Given the description of an element on the screen output the (x, y) to click on. 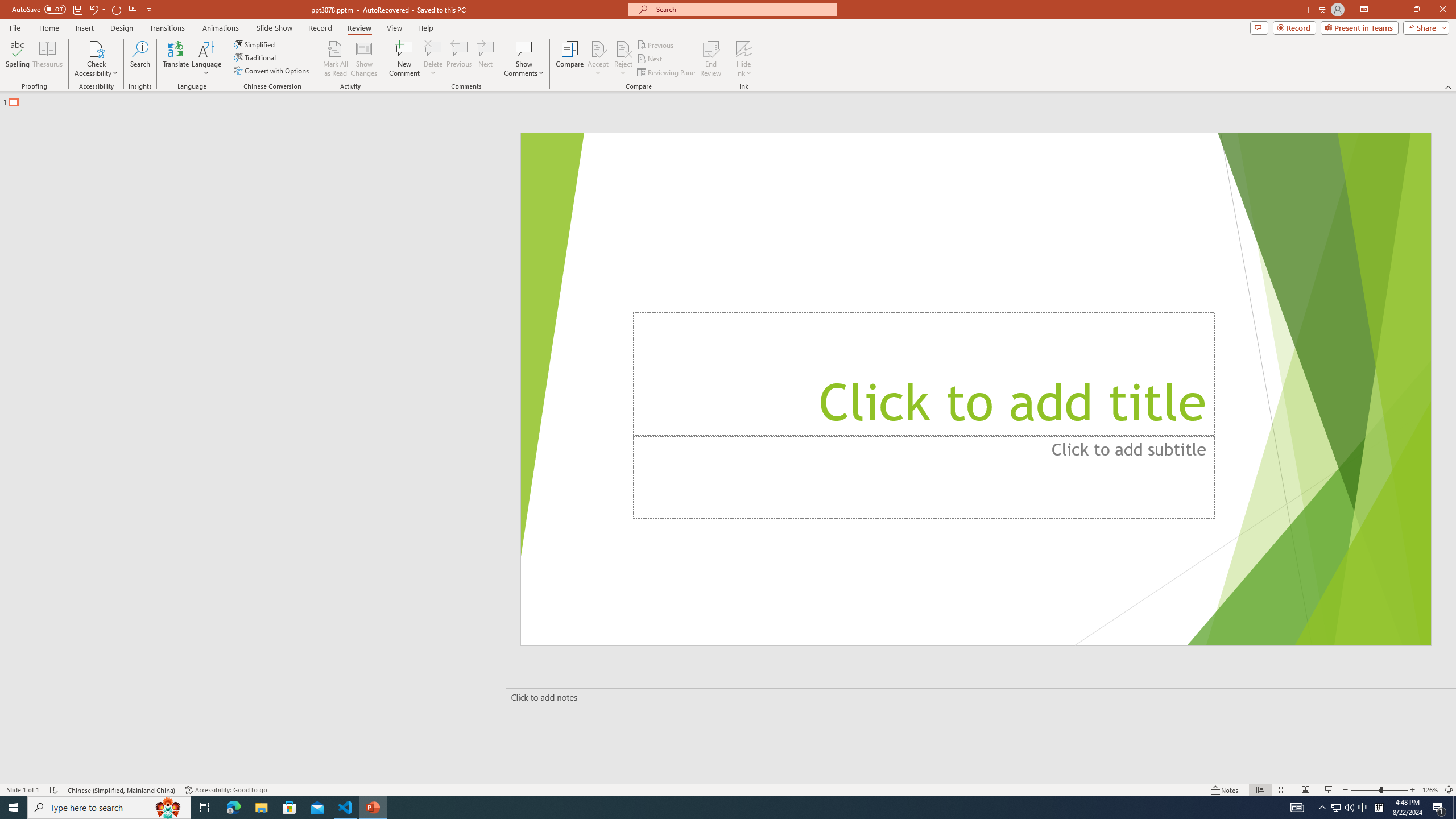
Thesaurus... (47, 58)
